Given the description of an element on the screen output the (x, y) to click on. 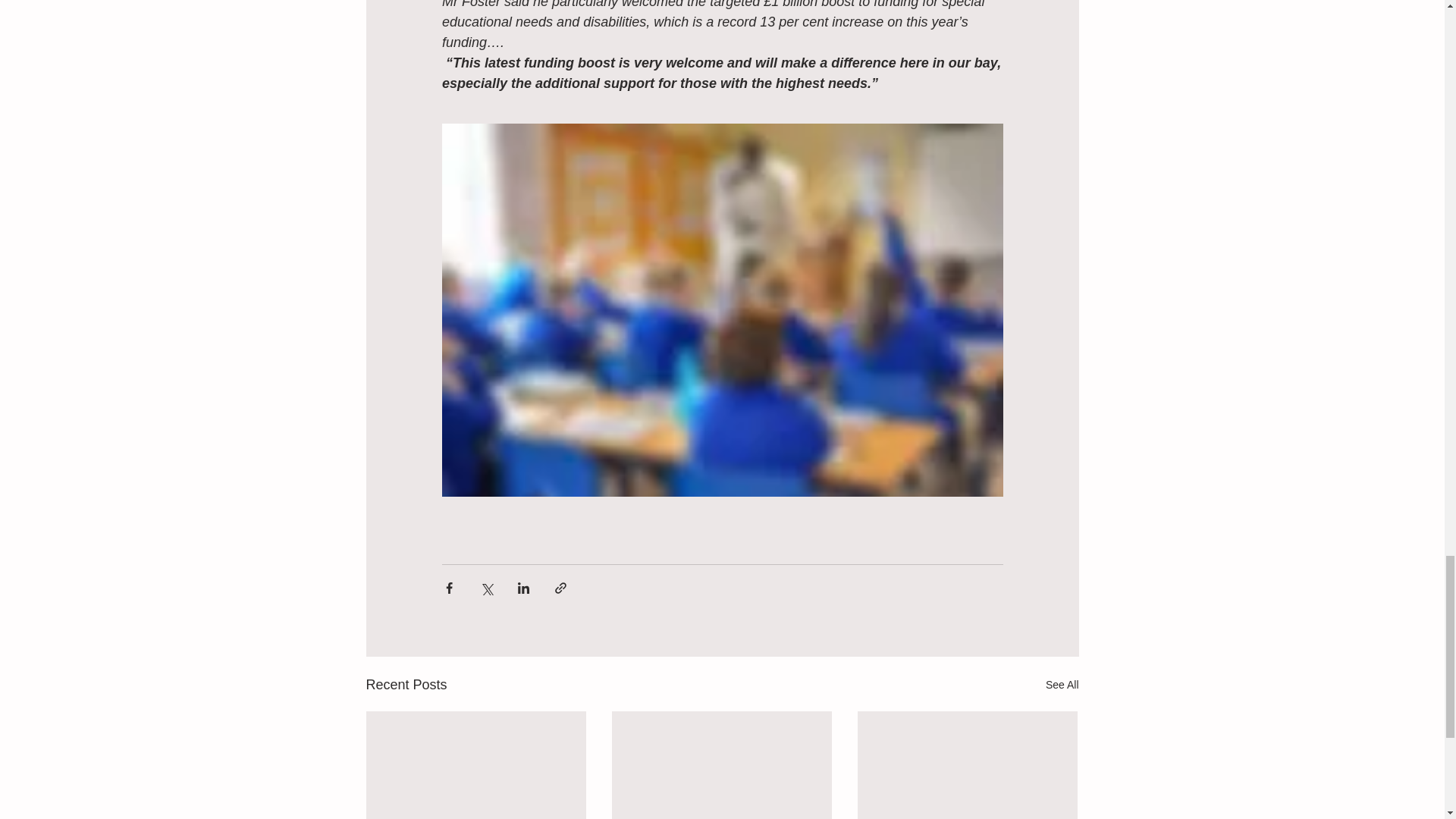
See All (1061, 685)
